Given the description of an element on the screen output the (x, y) to click on. 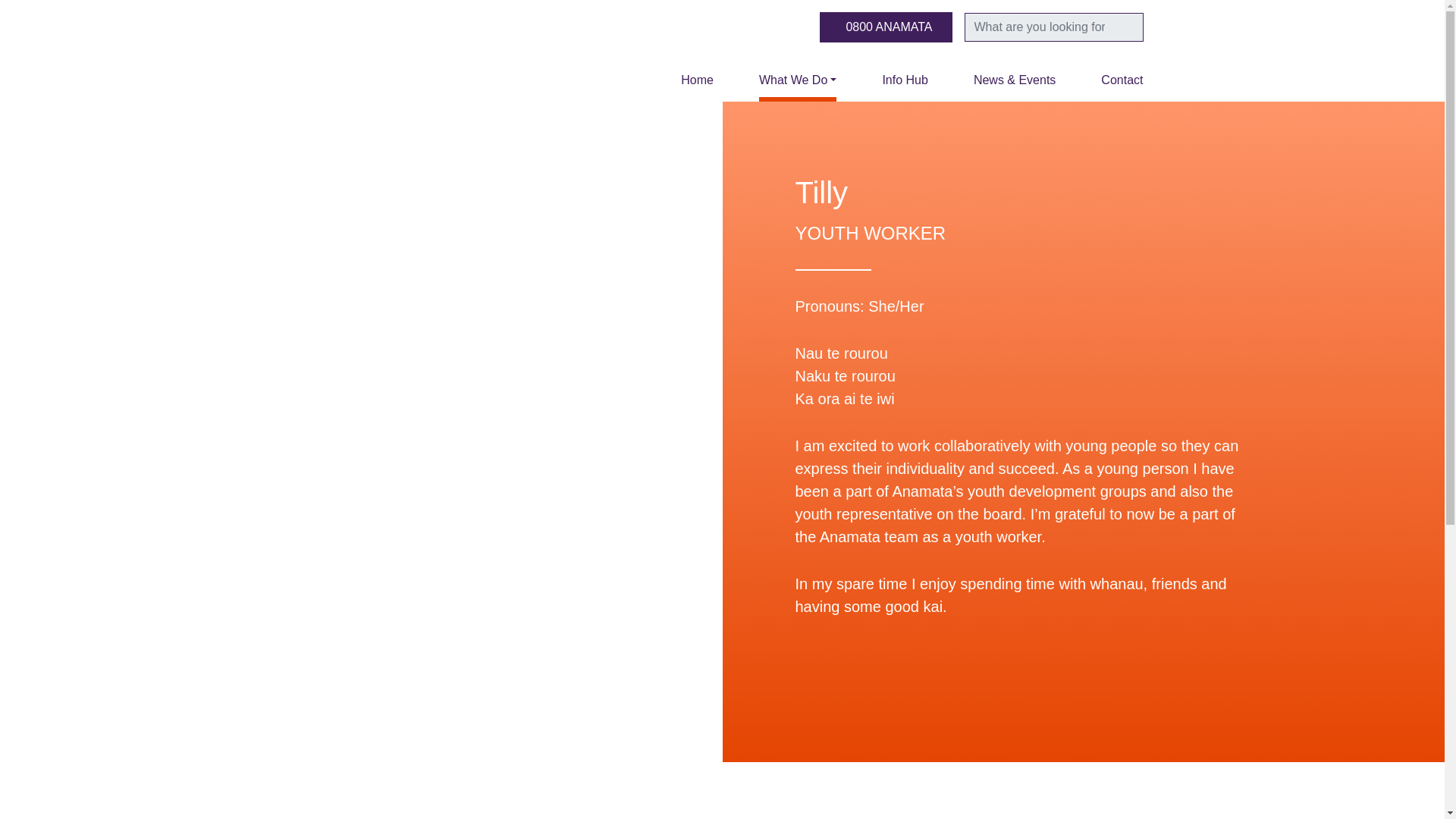
Home (697, 77)
What We Do (797, 77)
Contact (1110, 77)
Info Hub (904, 77)
Contact (1110, 77)
What We Do (797, 77)
Info Hub (904, 77)
Home (697, 77)
0800 ANAMATA (885, 27)
